Given the description of an element on the screen output the (x, y) to click on. 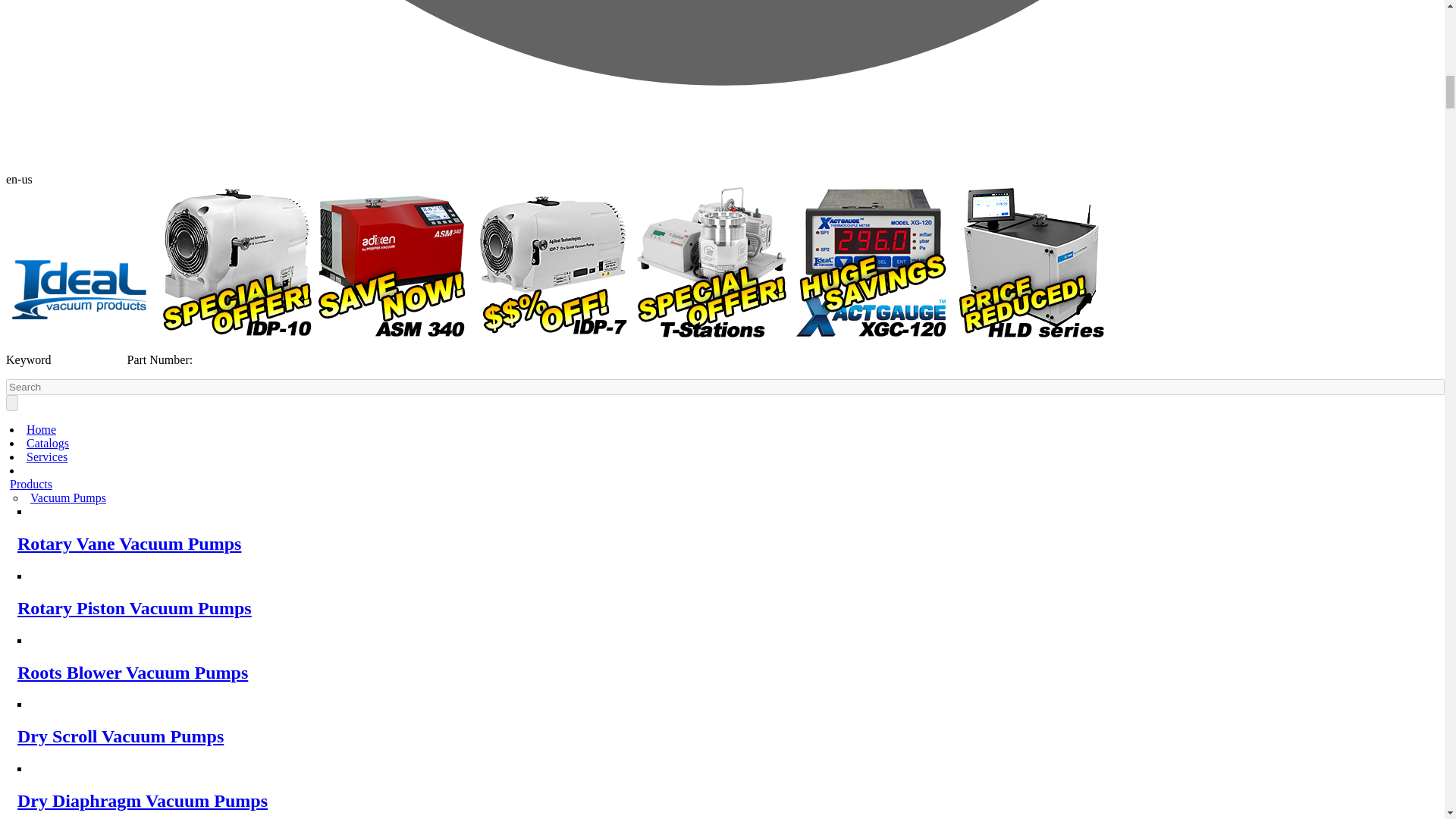
Vacuum Pumps (68, 497)
Catalogs (47, 442)
Home (41, 429)
Services (46, 456)
